Given the description of an element on the screen output the (x, y) to click on. 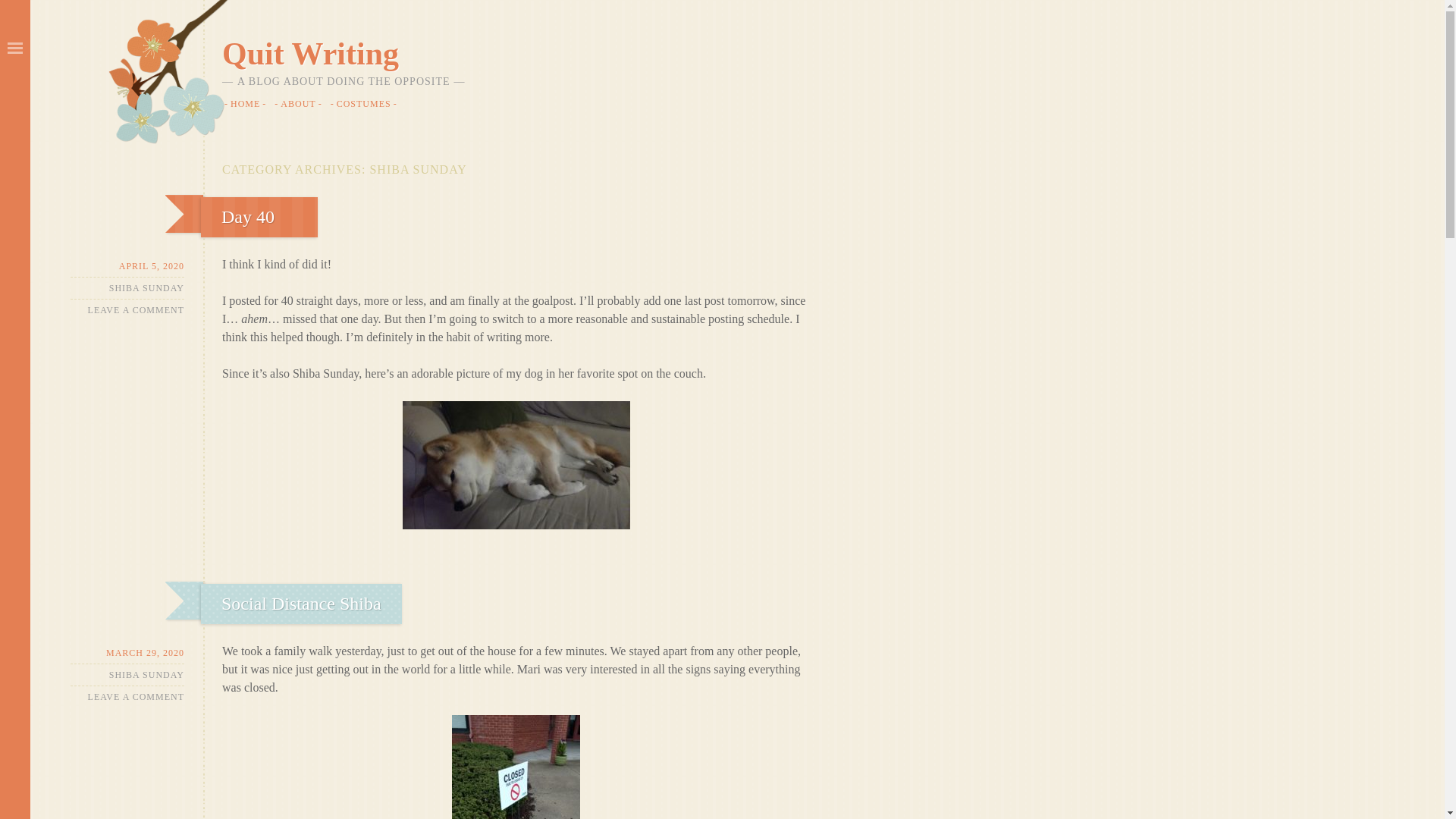
Day 40 (248, 216)
SHIBA SUNDAY (146, 288)
SHIBA SUNDAY (146, 674)
9:41 pm (126, 266)
ABOUT (299, 101)
Social Distance Shiba (301, 603)
HOME (247, 101)
Search (29, 9)
LEAVE A COMMENT (135, 696)
APRIL 5, 2020 (126, 266)
Quit Writing (310, 53)
MARCH 29, 2020 (126, 653)
COSTUMES (366, 101)
LEAVE A COMMENT (135, 310)
8:21 pm (126, 653)
